Given the description of an element on the screen output the (x, y) to click on. 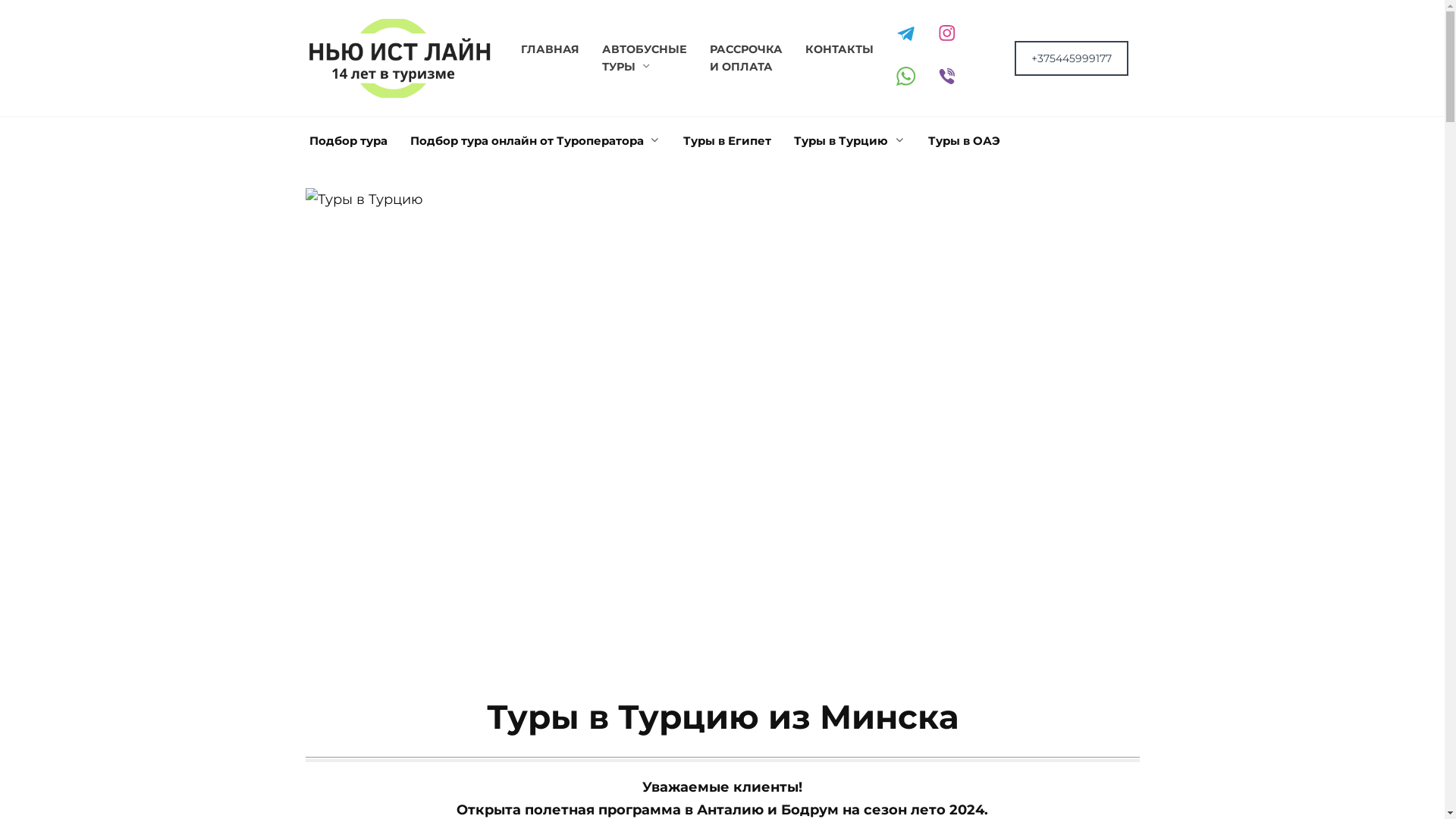
+375445999177 Element type: text (1071, 57)
